Given the description of an element on the screen output the (x, y) to click on. 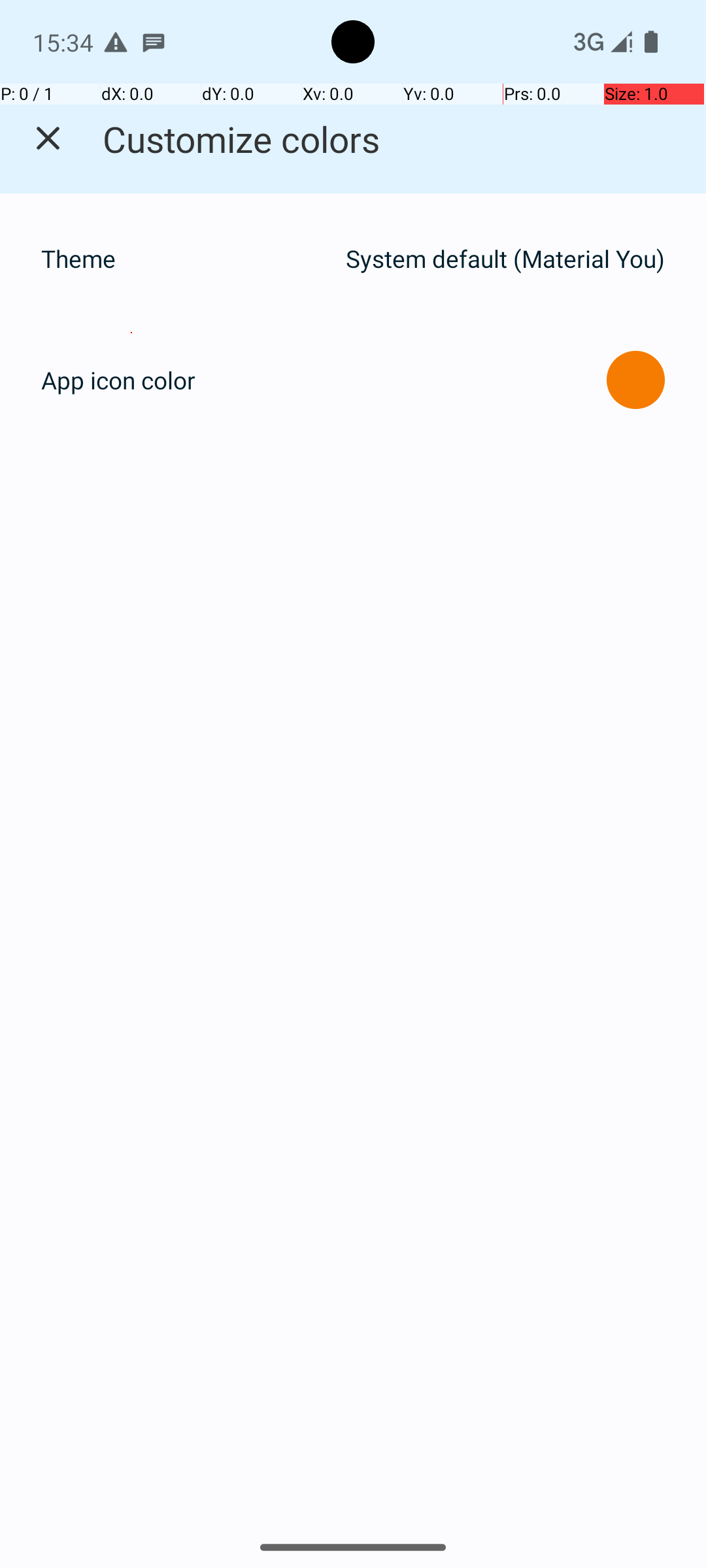
Customize colors Element type: android.widget.TextView (241, 138)
Theme Element type: android.widget.TextView (186, 258)
System default (Material You) Element type: android.widget.TextView (504, 258)
App icon color Element type: android.widget.TextView (118, 379)
